Given the description of an element on the screen output the (x, y) to click on. 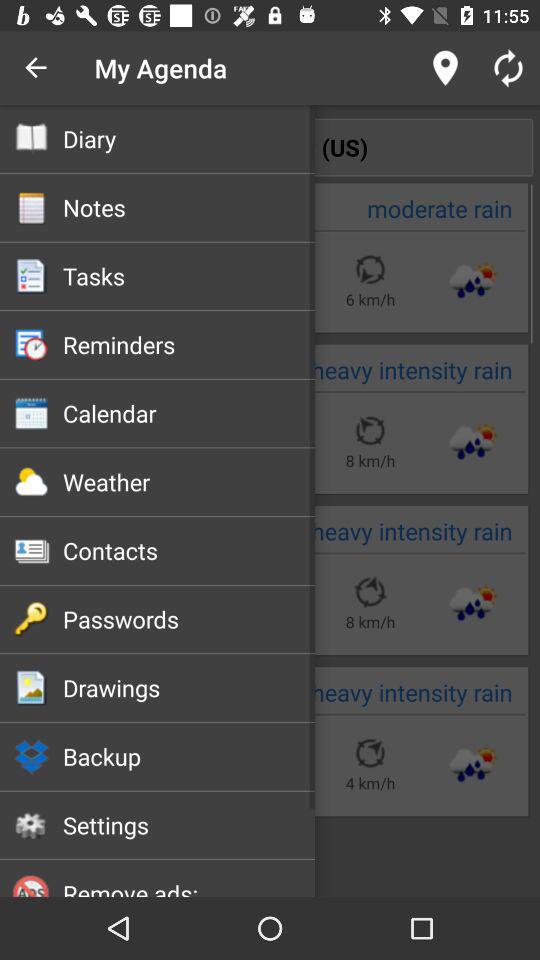
below the password option (31, 688)
click on icon next to contacts (31, 550)
click the fourth icon from the left top of the page (31, 344)
